Given the description of an element on the screen output the (x, y) to click on. 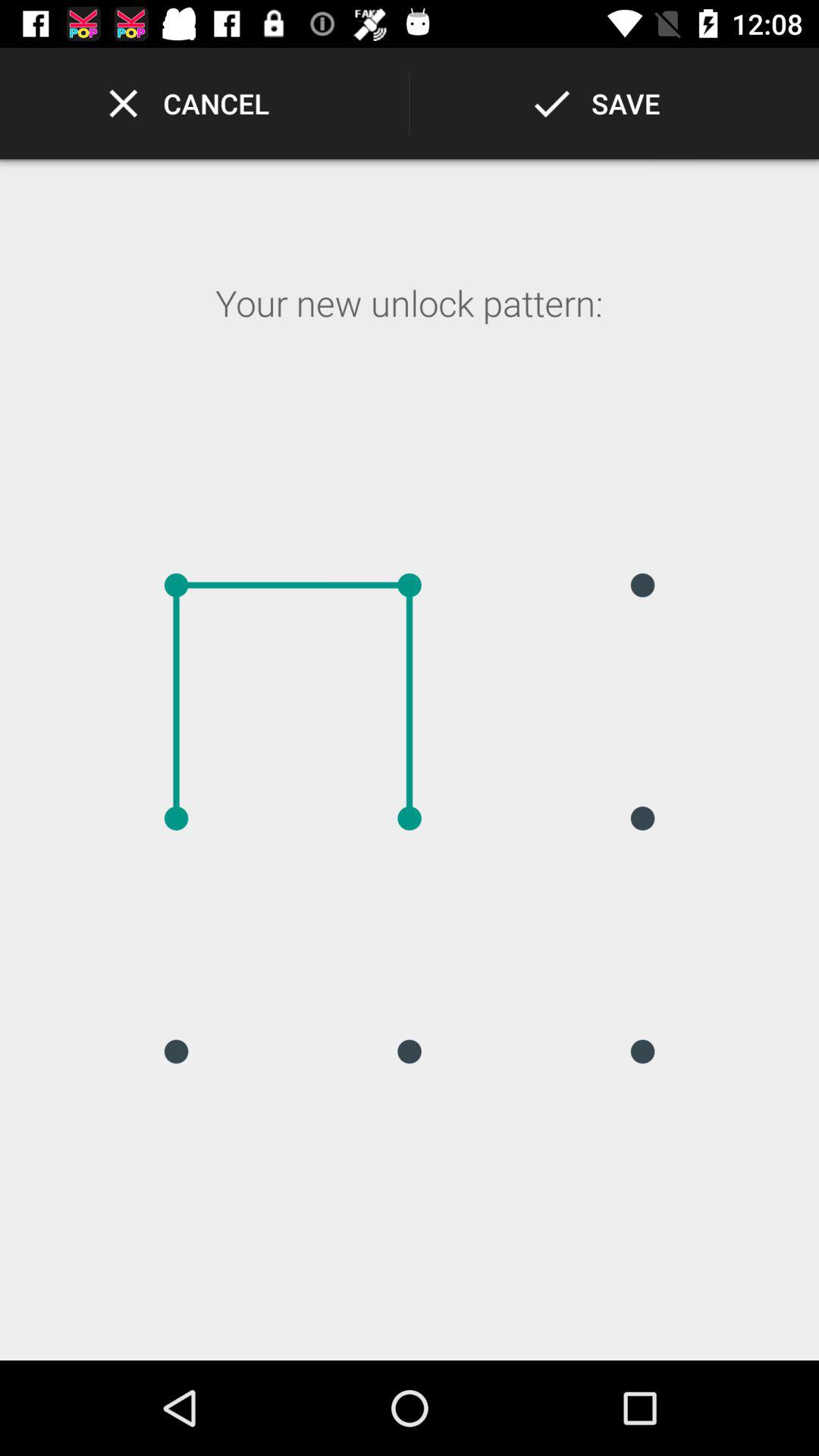
scroll until the your new unlock icon (408, 323)
